Given the description of an element on the screen output the (x, y) to click on. 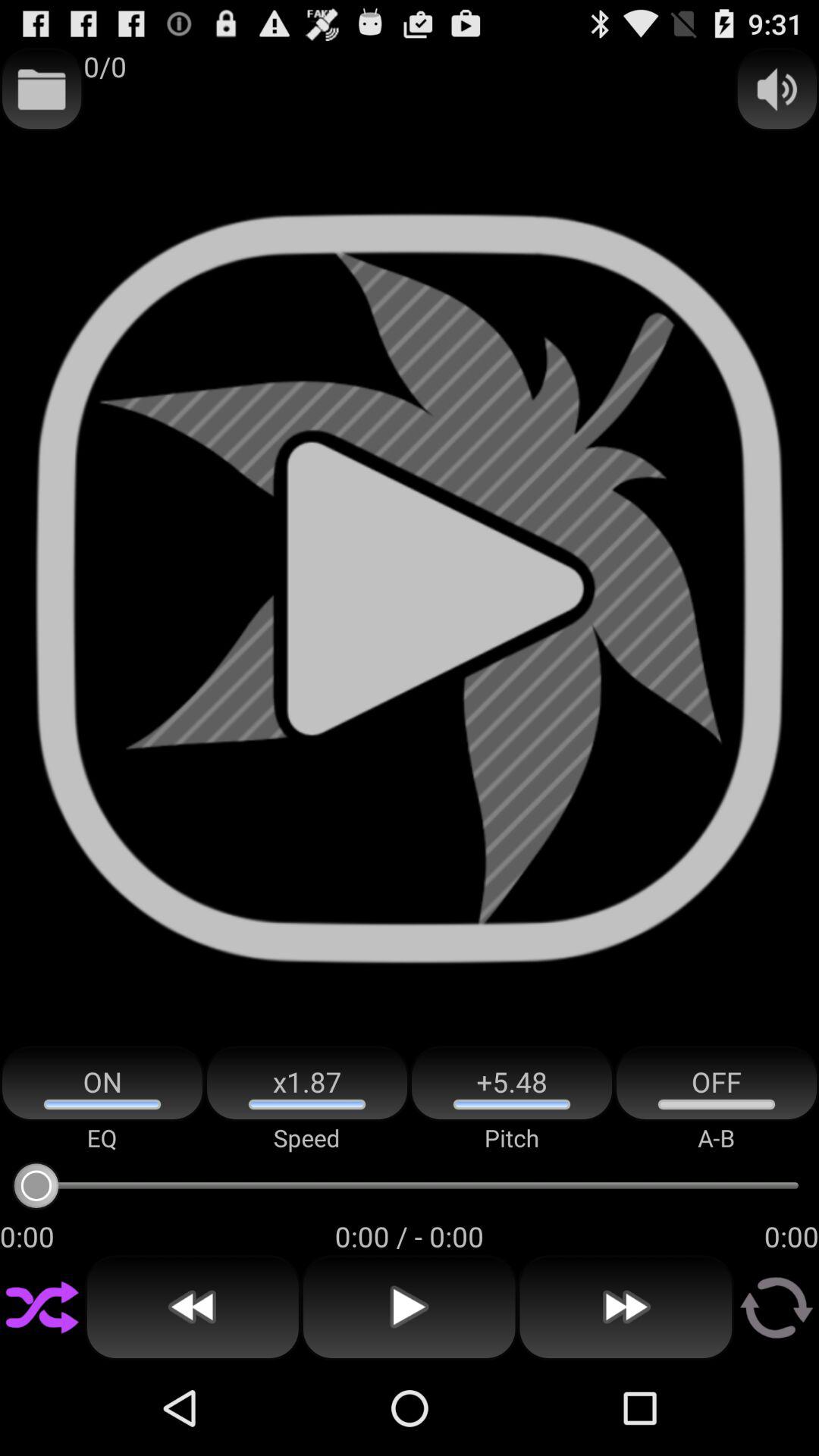
turn off the app below the 0:00 (42, 1307)
